Given the description of an element on the screen output the (x, y) to click on. 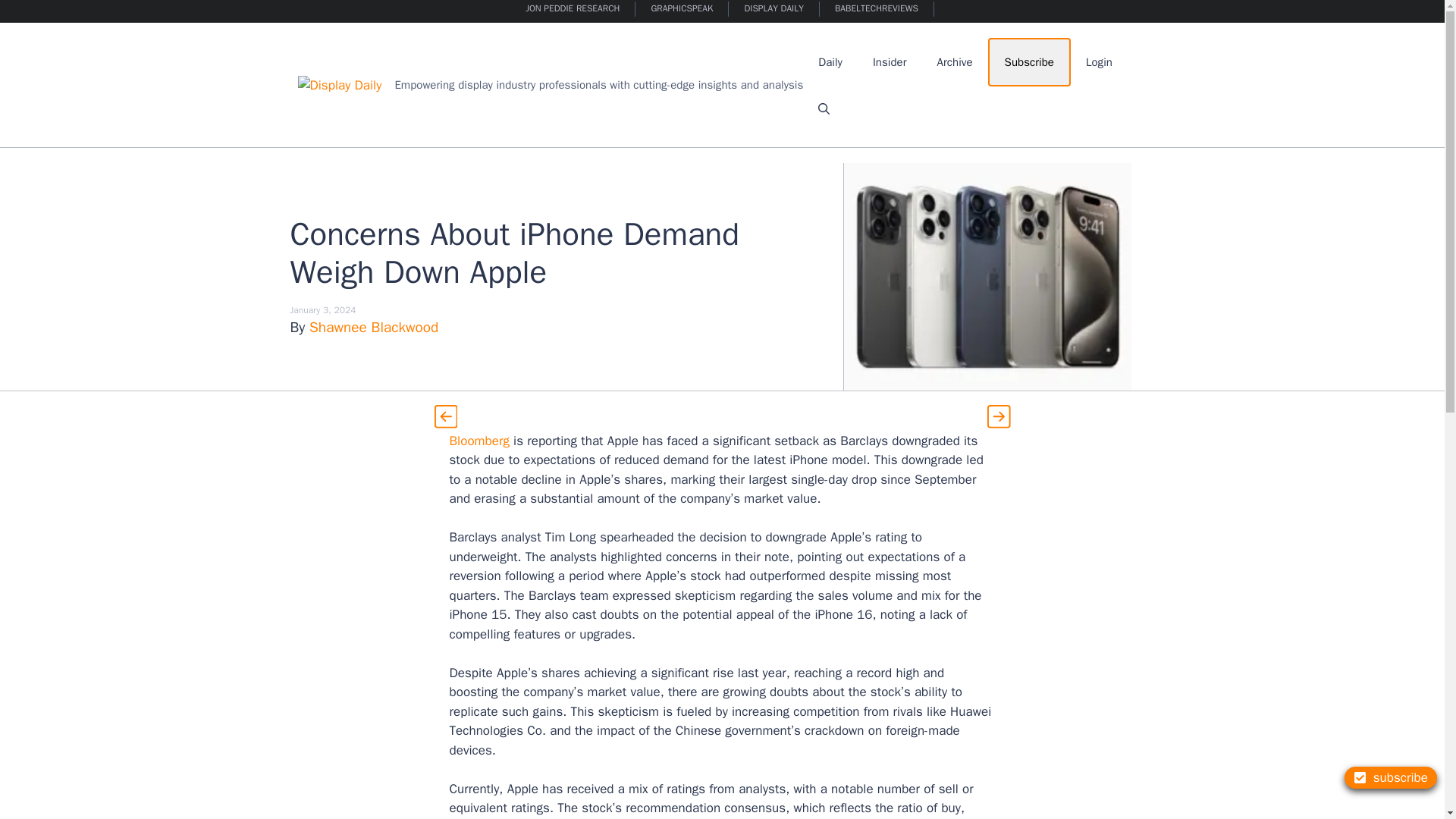
BABELTECHREVIEWS (876, 8)
Login (1098, 62)
Archive (954, 62)
subscribe (1390, 776)
Shawnee Blackwood (373, 327)
Subscribe (1029, 62)
JON PEDDIE RESEARCH (572, 8)
subscribe (1390, 776)
GRAPHICSPEAK (681, 8)
Insider (889, 62)
